Given the description of an element on the screen output the (x, y) to click on. 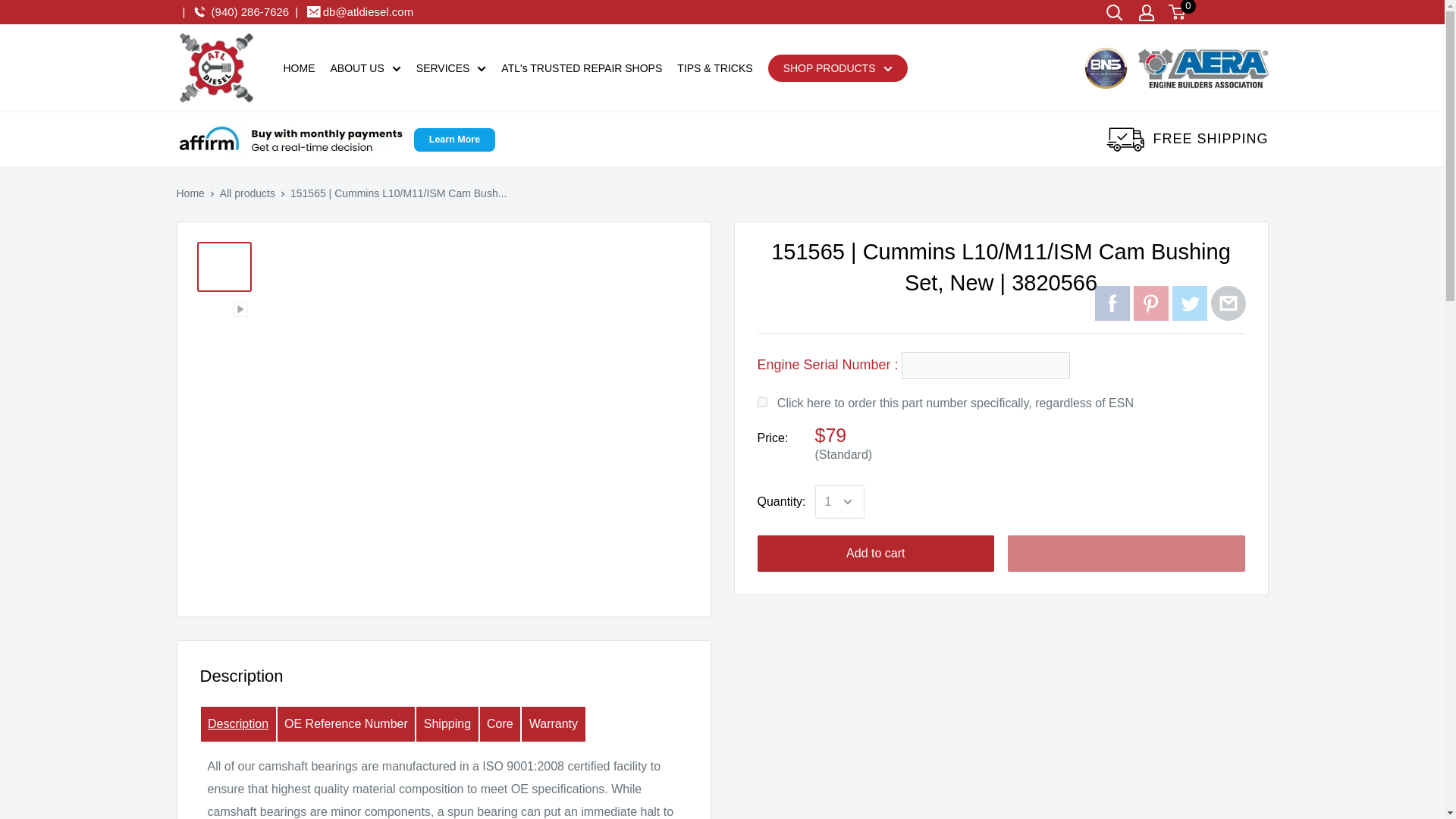
on (762, 402)
